Given the description of an element on the screen output the (x, y) to click on. 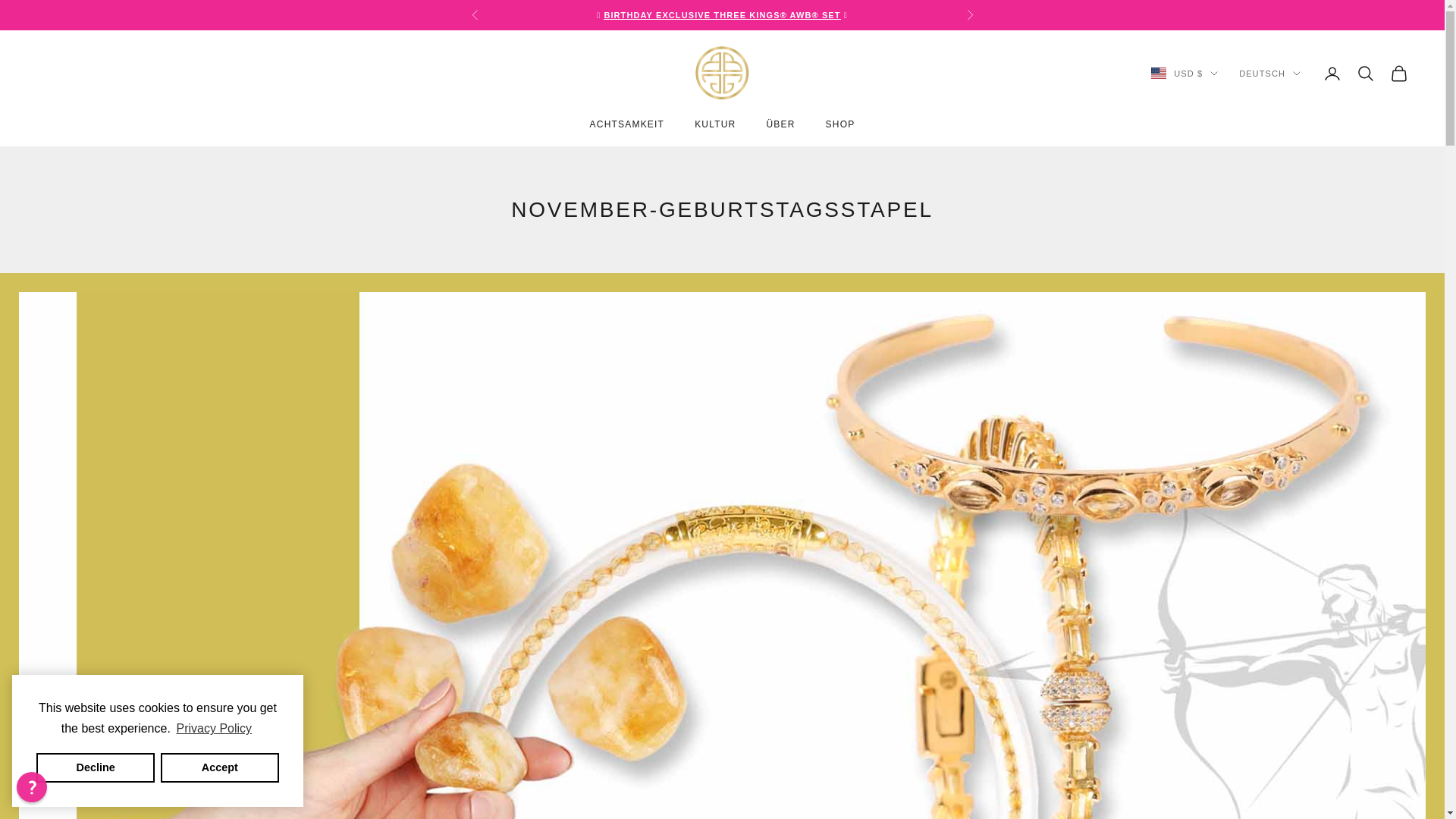
Accept (219, 767)
Privacy Policy (213, 728)
BuDhaGirl (722, 73)
Decline (95, 767)
